Given the description of an element on the screen output the (x, y) to click on. 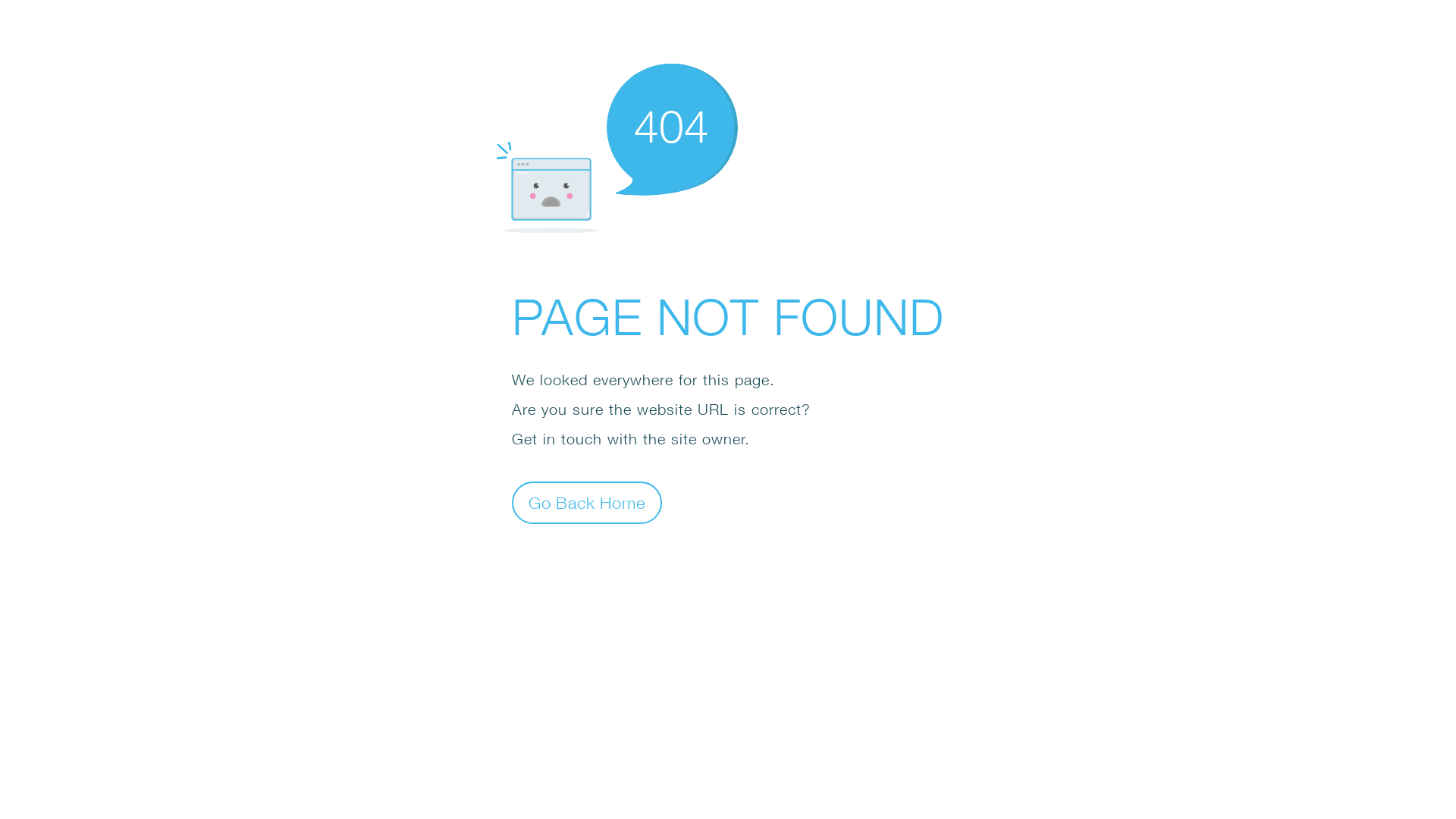
Go Back Home Element type: text (586, 502)
